Given the description of an element on the screen output the (x, y) to click on. 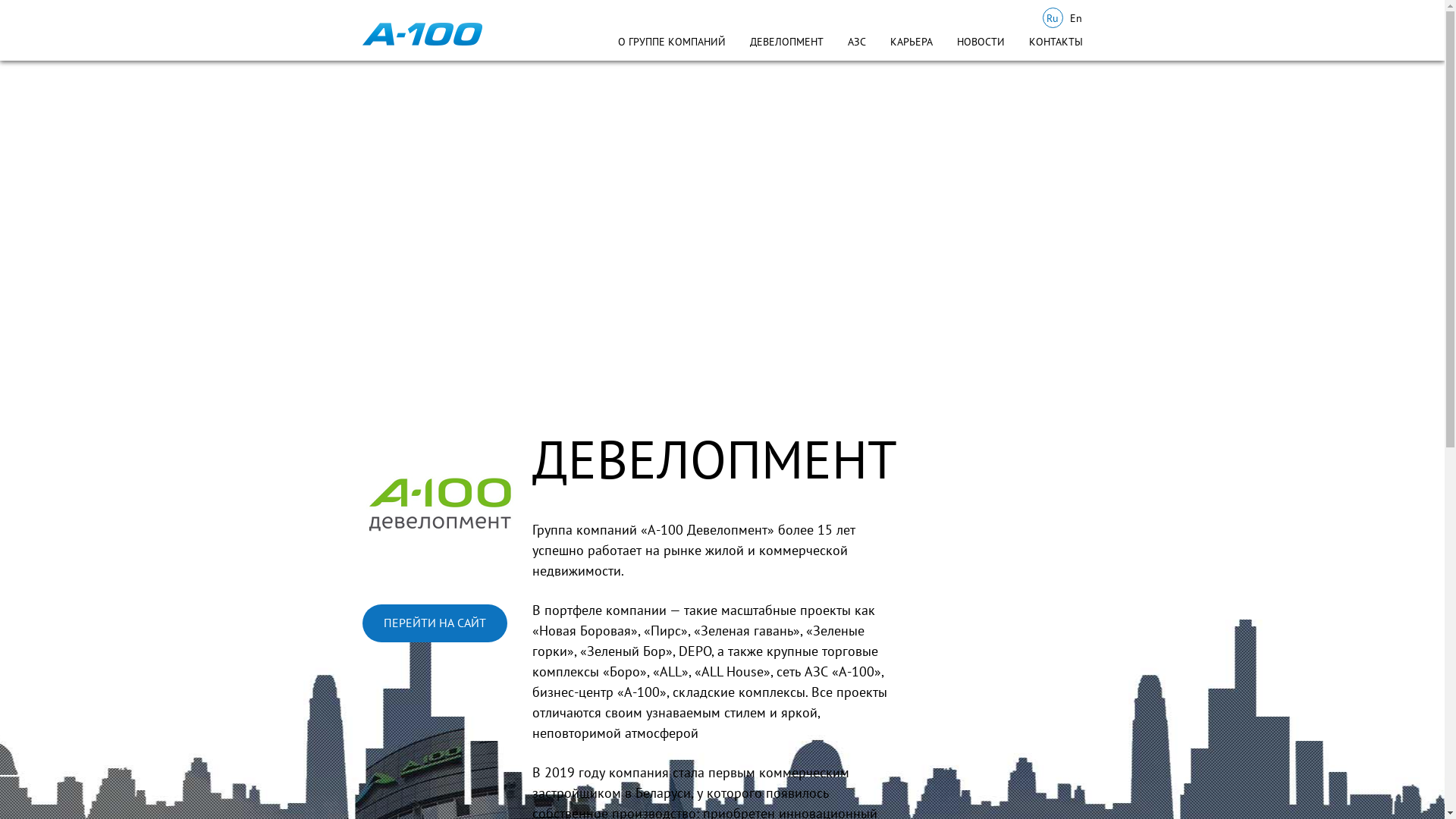
En Element type: text (1076, 17)
Ru Element type: text (1051, 17)
